Given the description of an element on the screen output the (x, y) to click on. 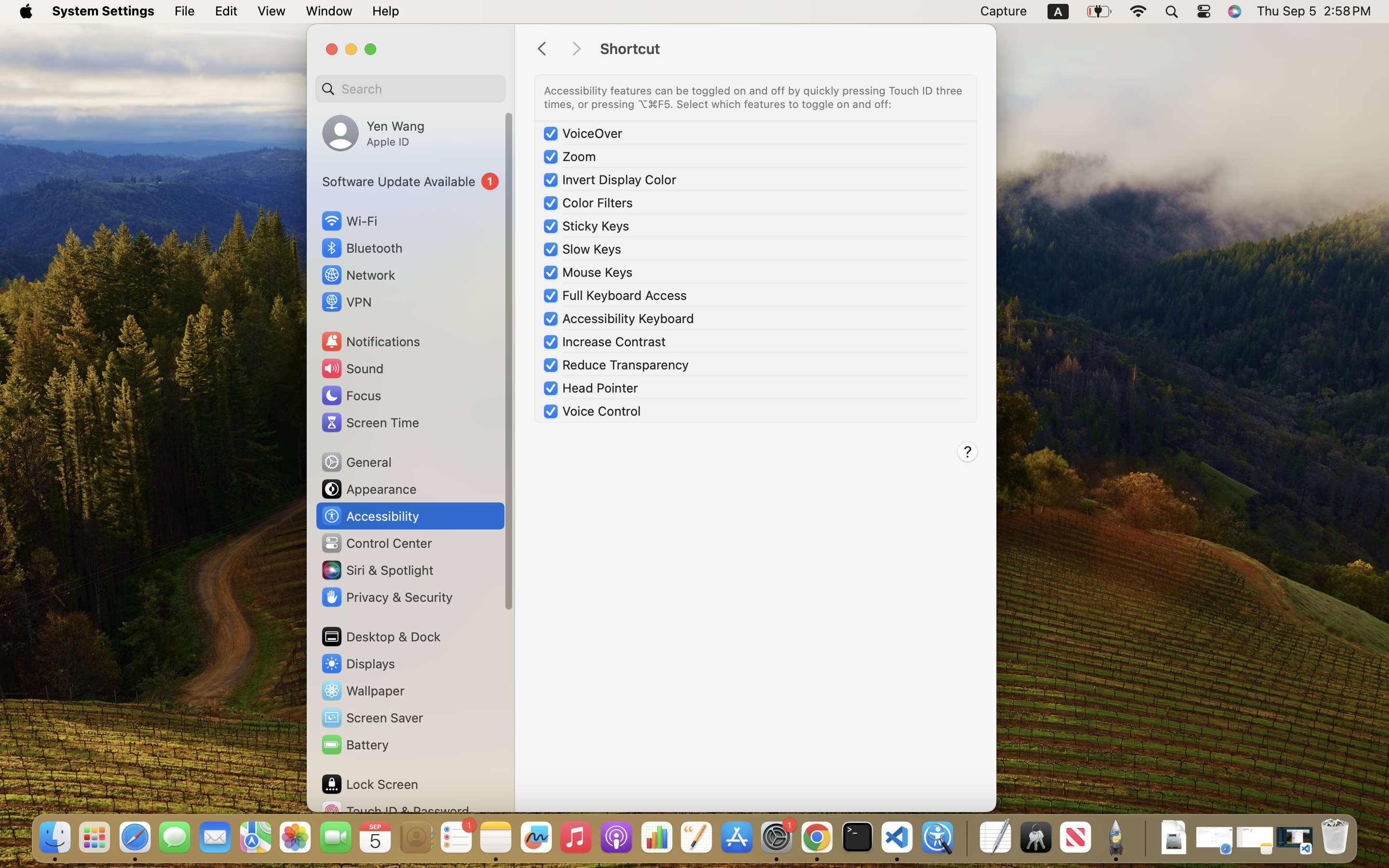
Accessibility features can be toggled on and off by quickly pressing Touch ID three times, or pressing ⌥⌘F5. Select which features to toggle on and off: Element type: AXStaticText (754, 96)
Wi‑Fi Element type: AXStaticText (348, 220)
Focus Element type: AXStaticText (350, 394)
Appearance Element type: AXStaticText (368, 488)
Shortcut Element type: AXStaticText (788, 49)
